Given the description of an element on the screen output the (x, y) to click on. 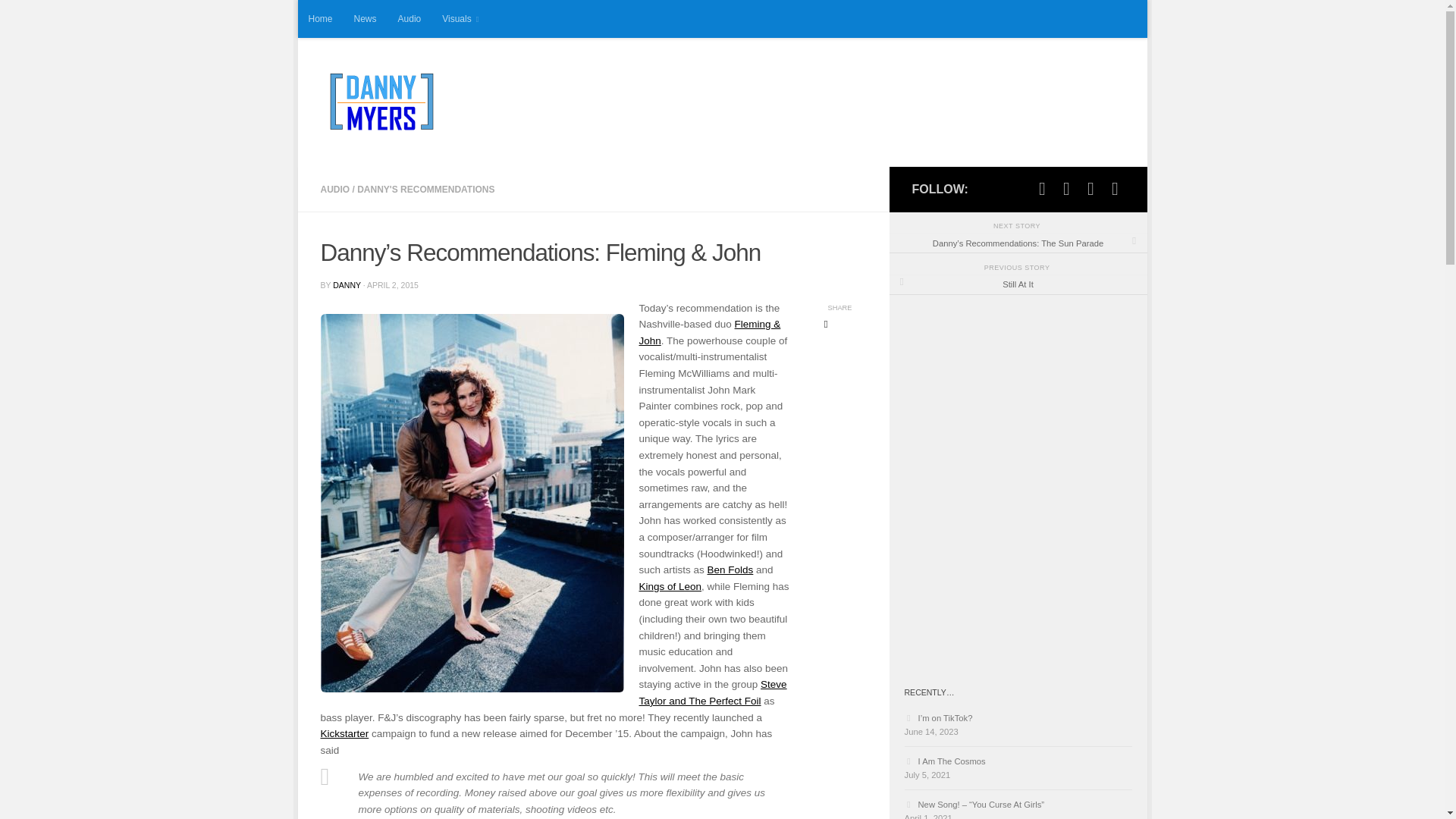
Steve Taylor and The Perfect Foil (712, 692)
Audio (409, 18)
Ben Folds (730, 569)
Posts by Danny (347, 284)
Kickstarter (344, 733)
Fleming and John on Kickstarter (344, 733)
Kings of Leon (670, 586)
Ben Folds (730, 569)
DANNY'S RECOMMENDATIONS (425, 189)
AUDIO (334, 189)
